Given the description of an element on the screen output the (x, y) to click on. 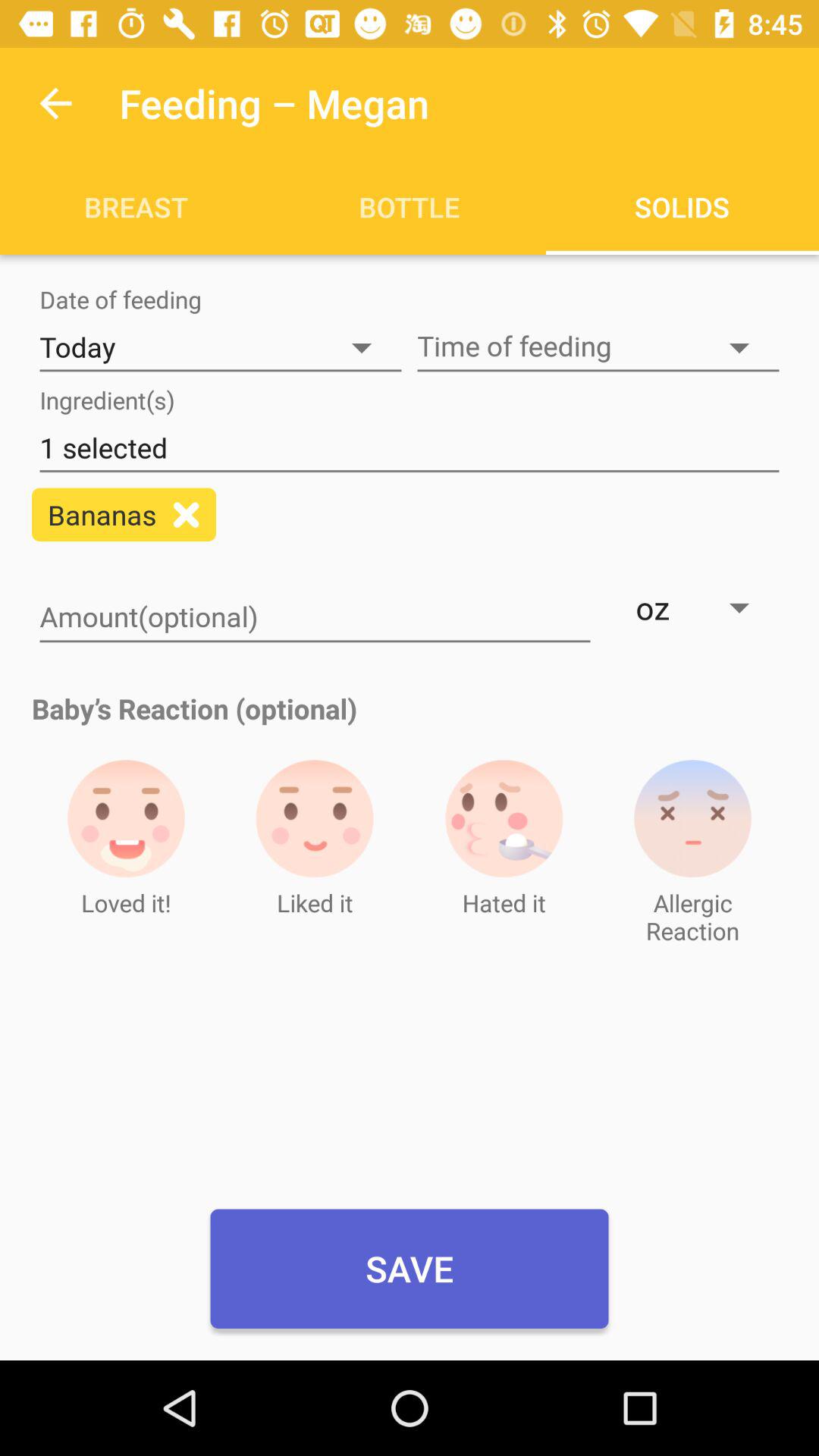
press icon above the 1 selected (598, 347)
